Given the description of an element on the screen output the (x, y) to click on. 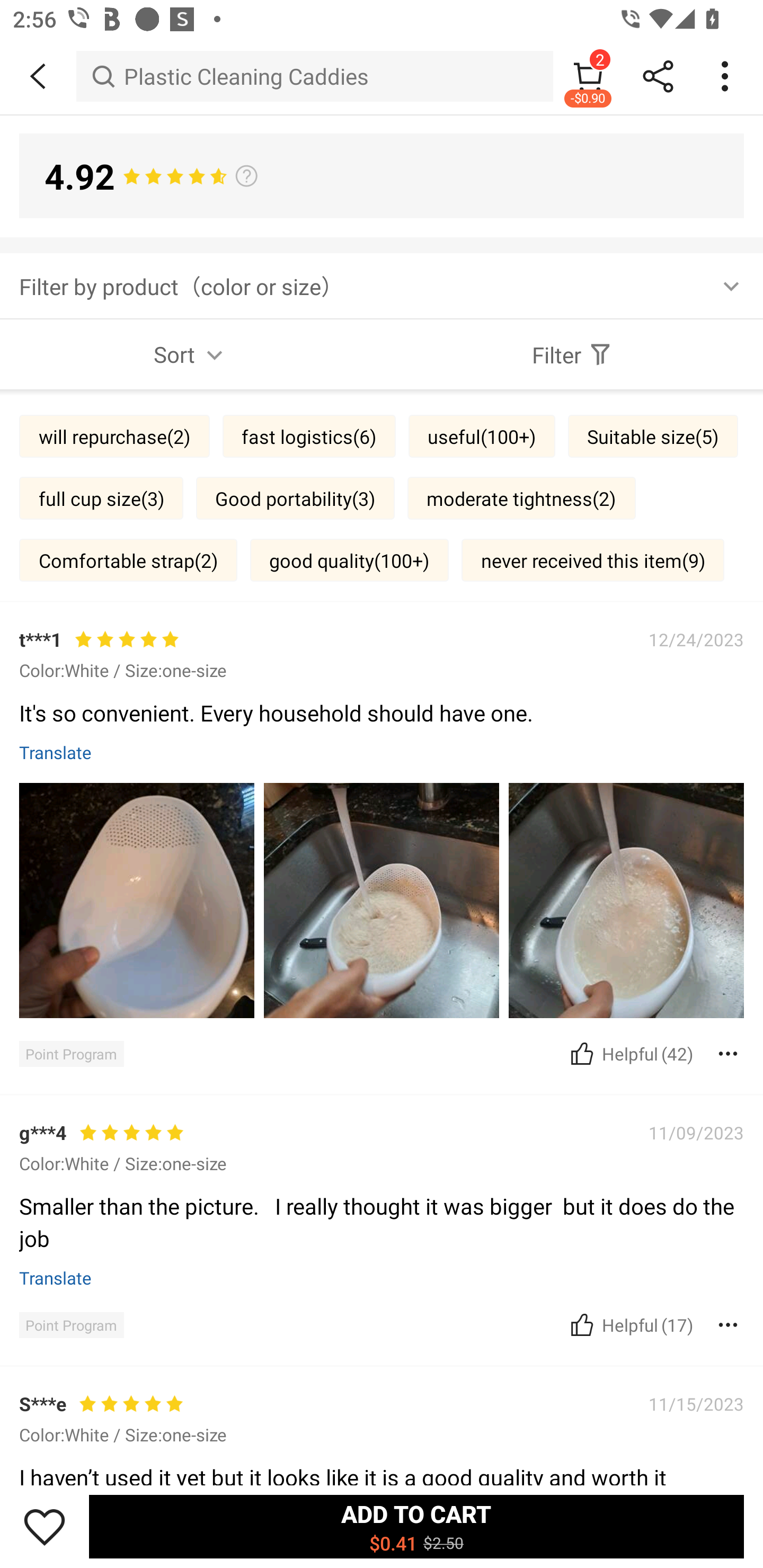
BACK (38, 75)
2 -$0.90 (588, 75)
Plastic Cleaning Caddies (314, 75)
Filter by product（color or size） (381, 285)
Sort (190, 353)
Filter (572, 353)
will repurchase(2) (114, 436)
fast logistics(6) (308, 436)
useful(100‎+) (481, 436)
Suitable size(5) (652, 436)
full cup size(3) (101, 497)
Good portability(3) (295, 497)
moderate tightness(2) (521, 497)
Comfortable strap(2) (128, 560)
good quality(100‎+) (349, 560)
never received this item(9) (592, 560)
Translate (55, 751)
Cancel Helpful Was this article helpful? (42) (629, 1053)
Point Program (71, 1053)
#1 Best Sellers in Cleaning Caddies (381, 1206)
Translate (55, 1276)
Cancel Helpful Was this article helpful? (17) (629, 1324)
Point Program (71, 1324)
1 (381, 1464)
ADD TO CART $0.41 $2.50 (416, 1526)
Save (44, 1526)
